Given the description of an element on the screen output the (x, y) to click on. 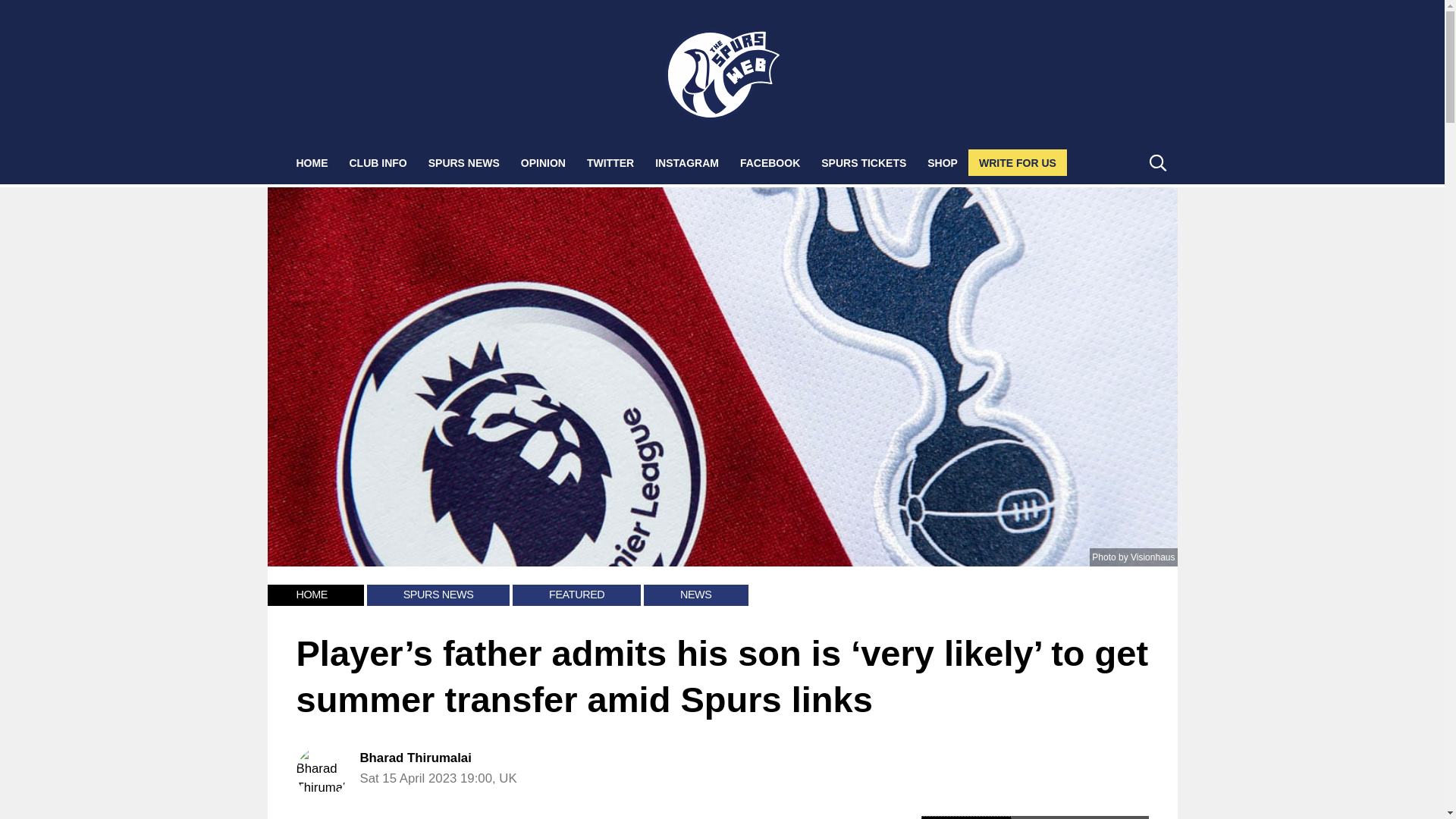
Bharad Thirumalai (414, 758)
TWITTER (610, 162)
HOME (311, 162)
INSTAGRAM (687, 162)
CLUB INFO (376, 162)
SPURS NEWS (438, 594)
HOME (311, 594)
SPURS NEWS (464, 162)
FACEBOOK (769, 162)
SPURS TICKETS (863, 162)
SHOP (942, 162)
WRITE FOR US (1017, 162)
NEWS (695, 594)
FEATURED (576, 594)
The Spurs Web - Tottenham Hotspur Football News (722, 73)
